Given the description of an element on the screen output the (x, y) to click on. 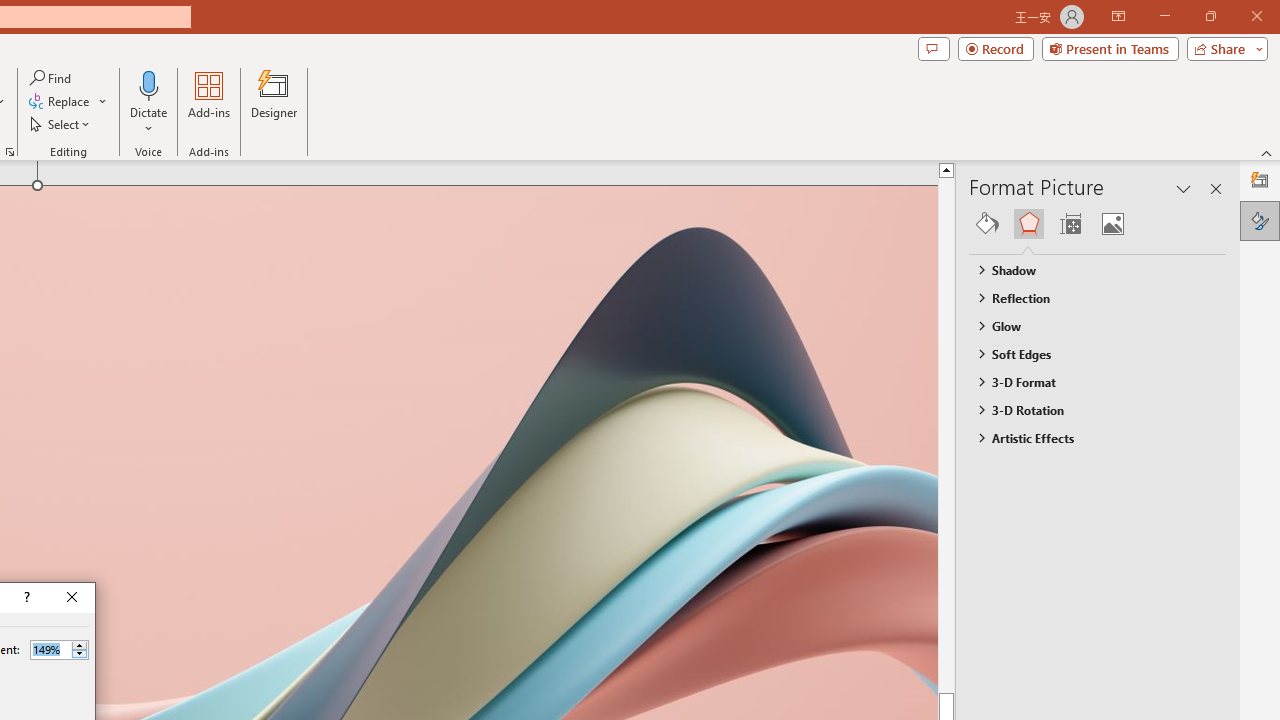
Format Picture (1260, 220)
3-D Rotation (1088, 410)
Glow (1088, 325)
